Given the description of an element on the screen output the (x, y) to click on. 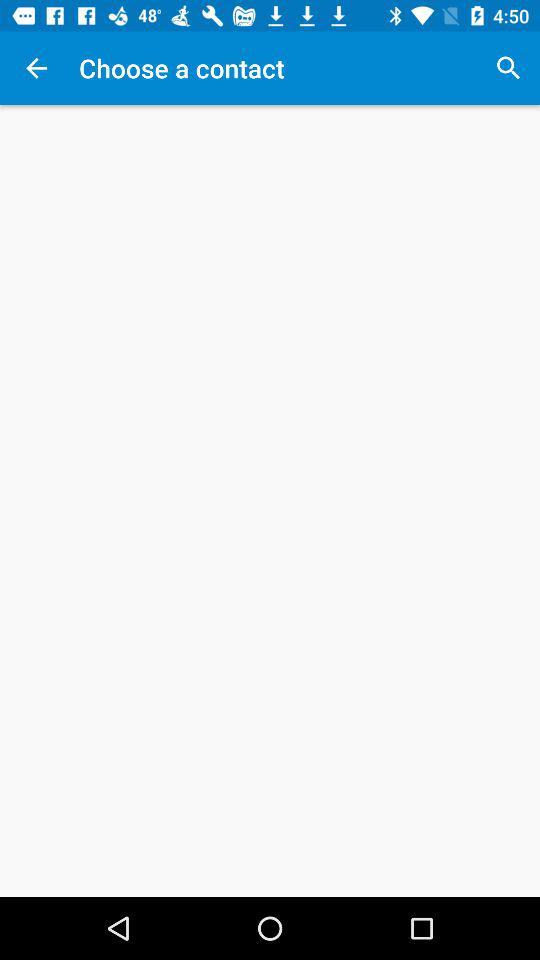
select app to the right of choose a contact icon (508, 67)
